Given the description of an element on the screen output the (x, y) to click on. 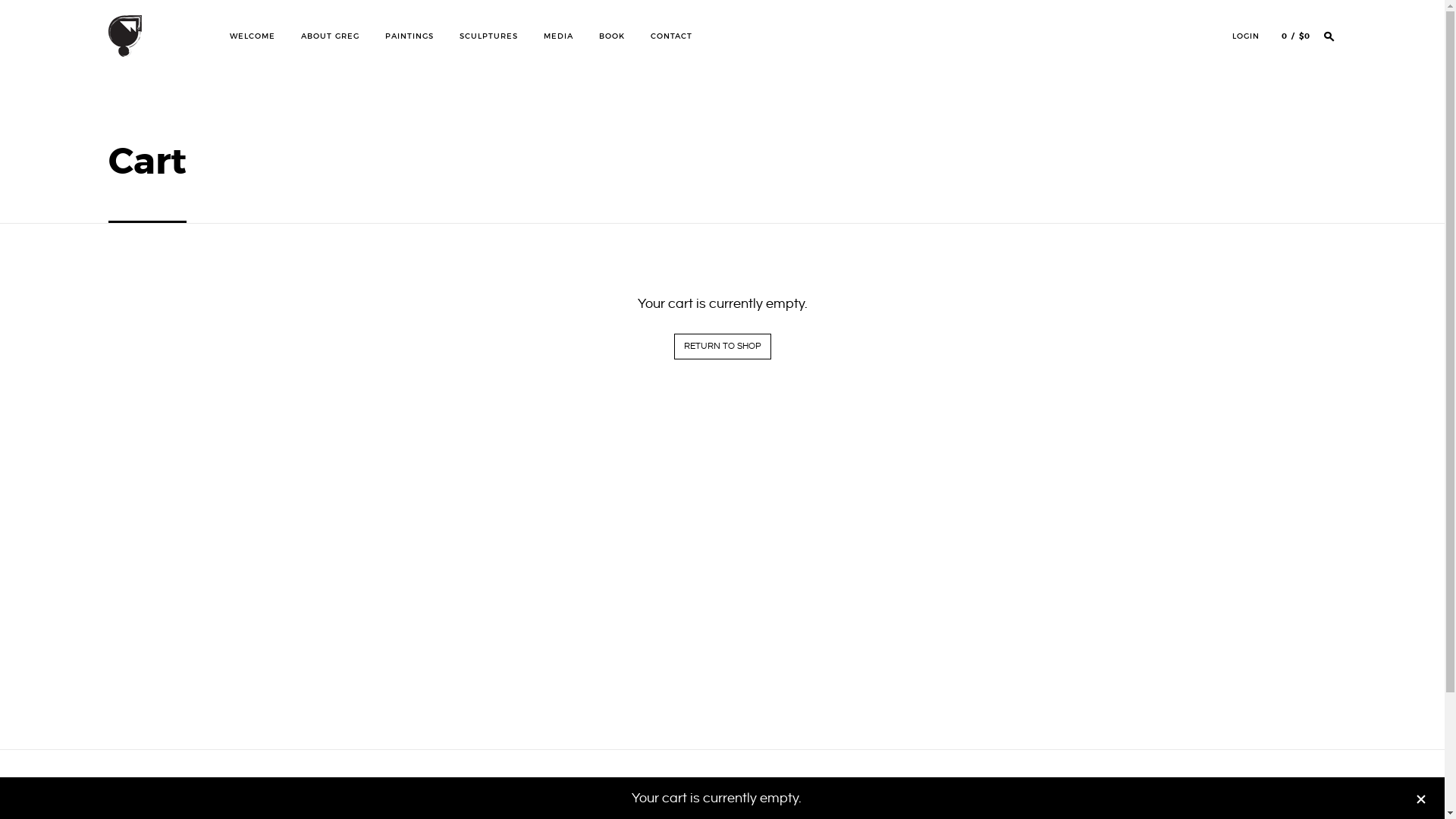
CONTACT Element type: text (671, 35)
MEDIA Element type: text (557, 35)
PAINTINGS Element type: text (409, 35)
Greg Wilson Studio Element type: text (119, 292)
ABOUT GREG Element type: text (329, 35)
LOGIN Element type: text (1245, 35)
0$0 Element type: text (1295, 35)
SCULPTURES Element type: text (488, 35)
BOOK Element type: text (611, 35)
RETURN TO SHOP Element type: text (721, 345)
Search Element type: text (43, 20)
WELCOME Element type: text (251, 35)
